Given the description of an element on the screen output the (x, y) to click on. 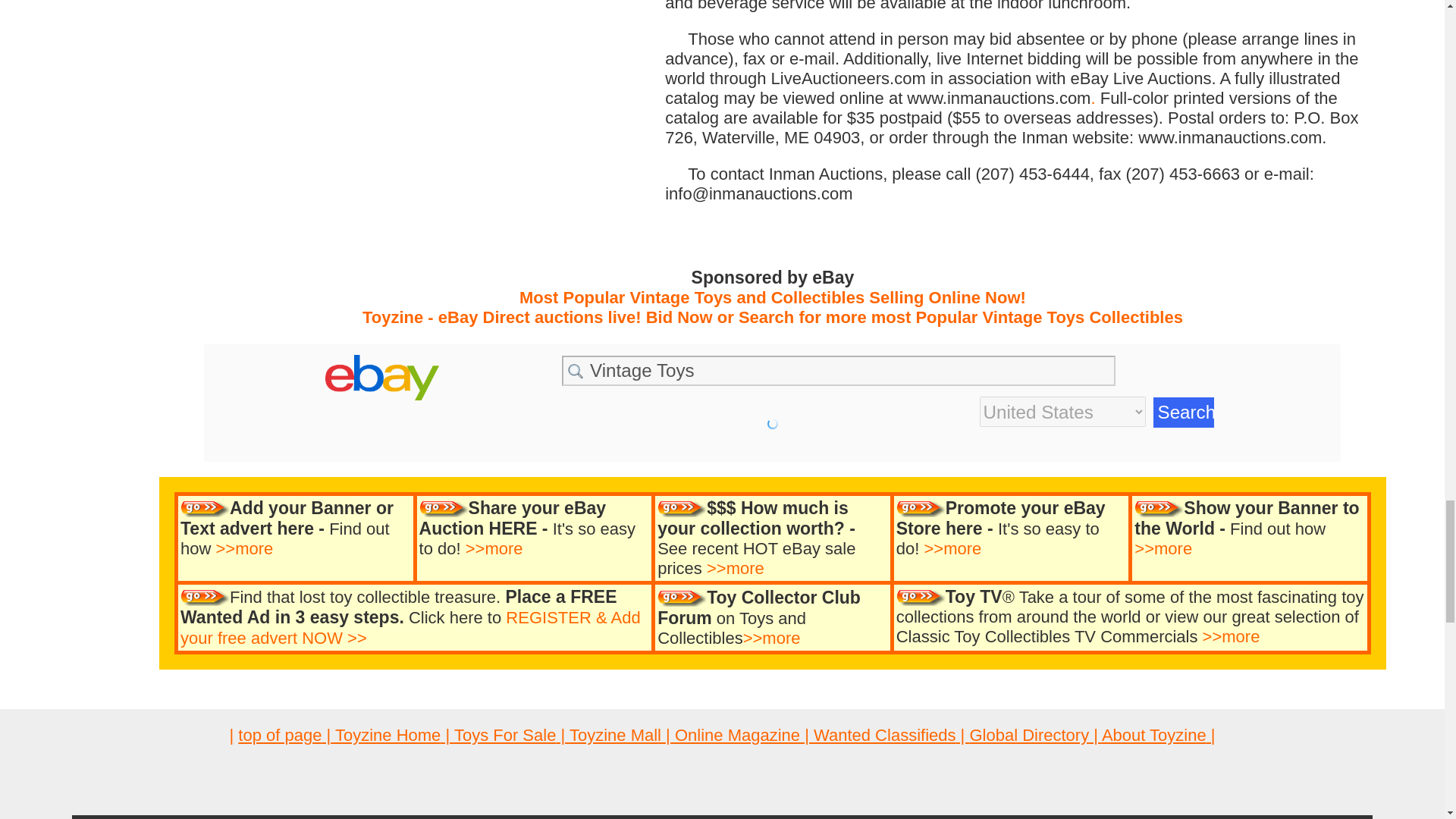
Vintage Toys (838, 370)
Search (1183, 412)
Vintage Toys (838, 370)
